Given the description of an element on the screen output the (x, y) to click on. 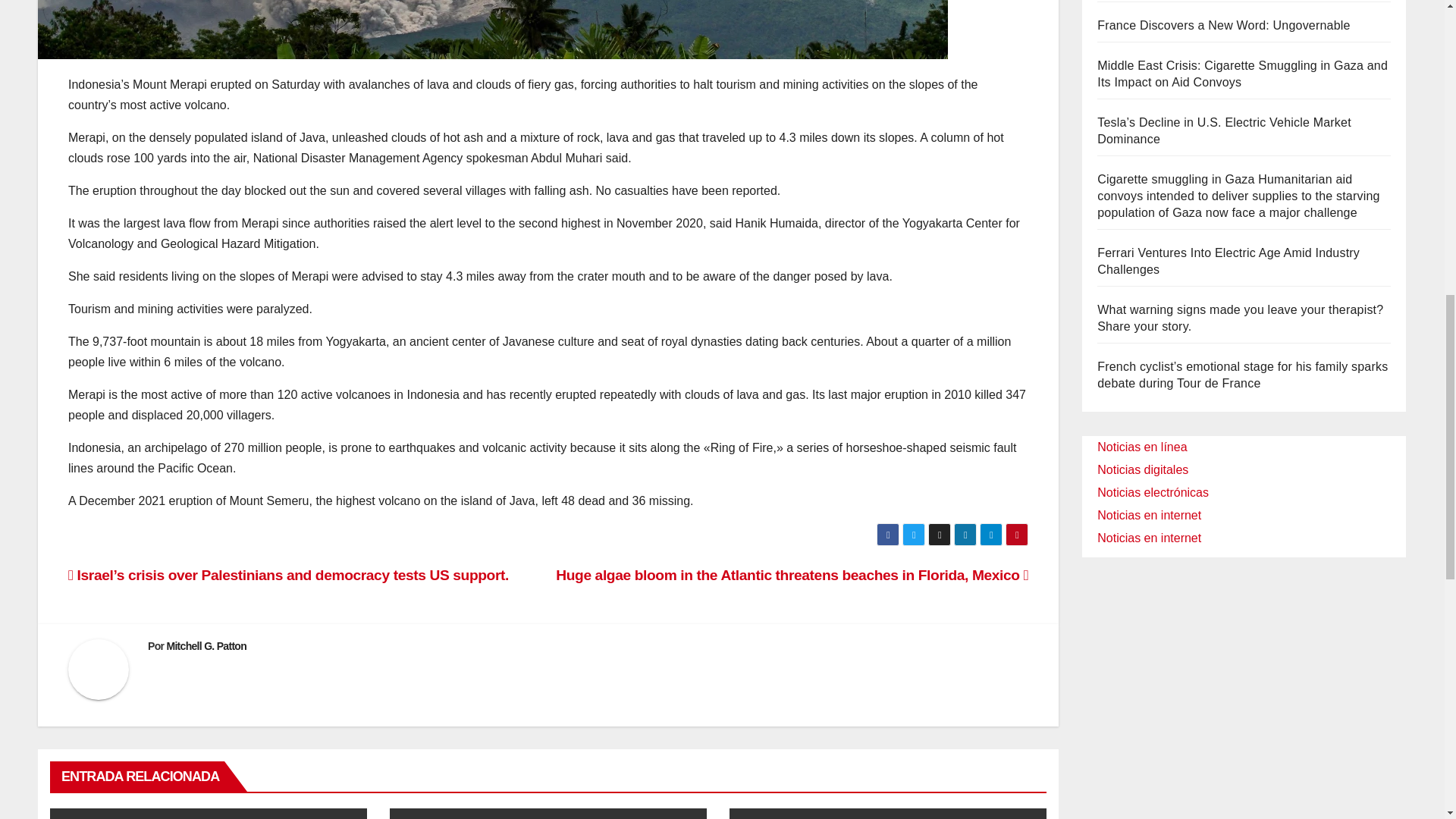
Mitchell G. Patton (205, 645)
